Given the description of an element on the screen output the (x, y) to click on. 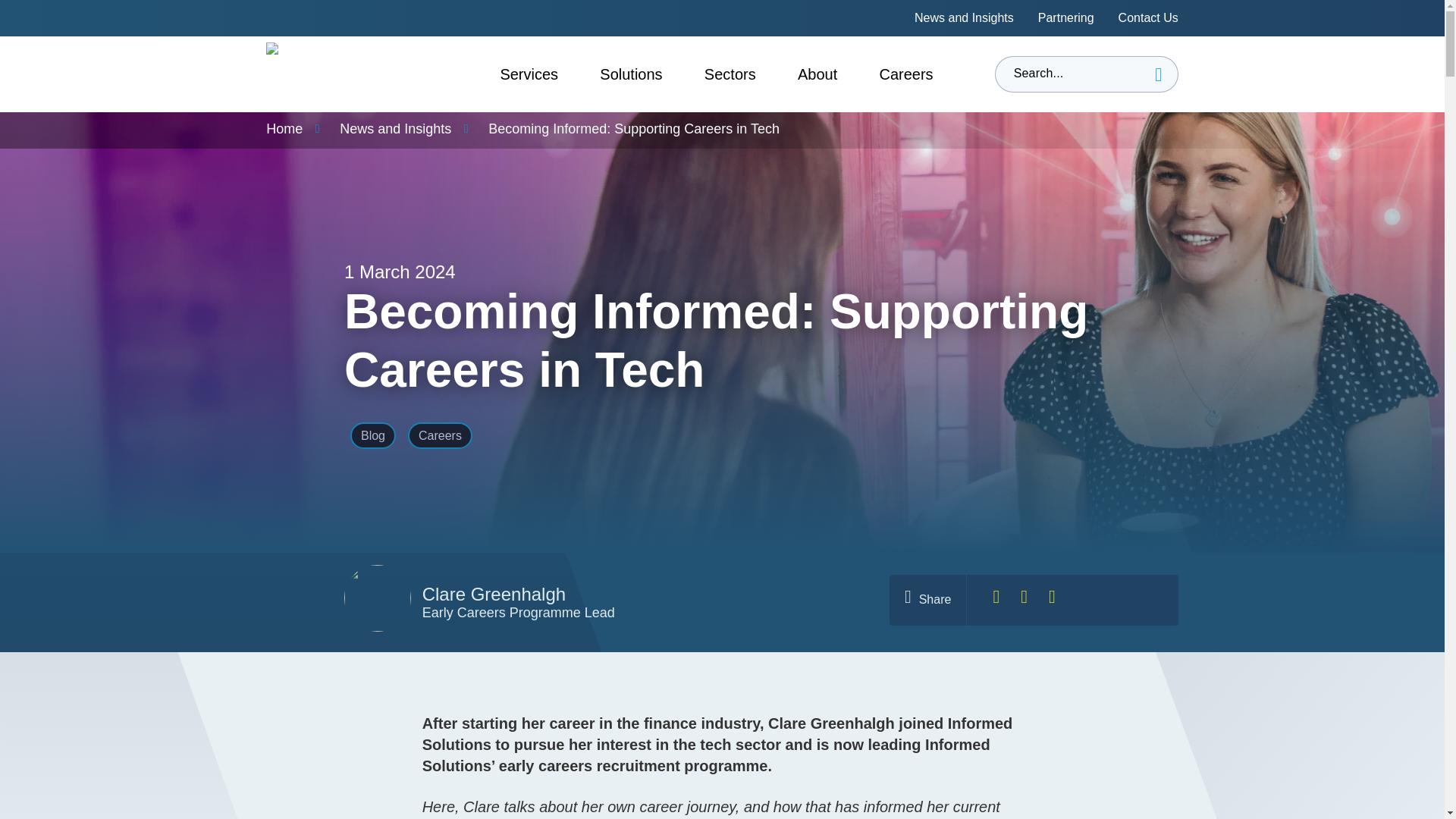
News and Insights (963, 18)
Careers (906, 73)
Informed Solutions (327, 74)
Share on LinkedIn (1024, 599)
Solutions (630, 73)
Share on Facebook (995, 599)
Share on Twitter (1051, 599)
Contact Us (1147, 18)
Partnering (1066, 18)
Sectors (729, 73)
